Given the description of an element on the screen output the (x, y) to click on. 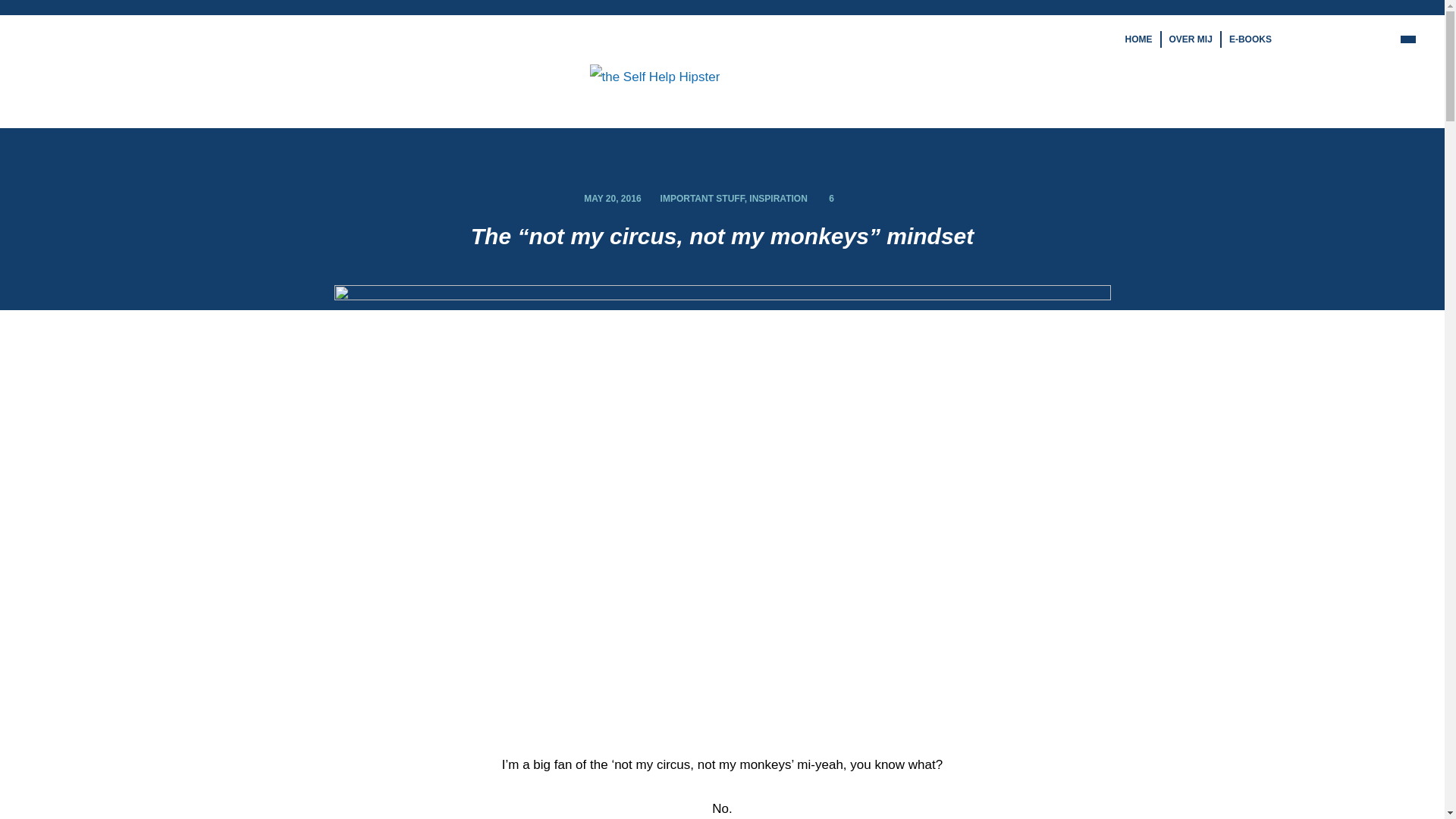
the Self Help Hipster (654, 75)
E-BOOKS (1249, 39)
IMPORTANT STUFF (702, 198)
INSPIRATION (777, 198)
HOME (1139, 39)
OVER MIJ (1190, 39)
6 (828, 198)
